Given the description of an element on the screen output the (x, y) to click on. 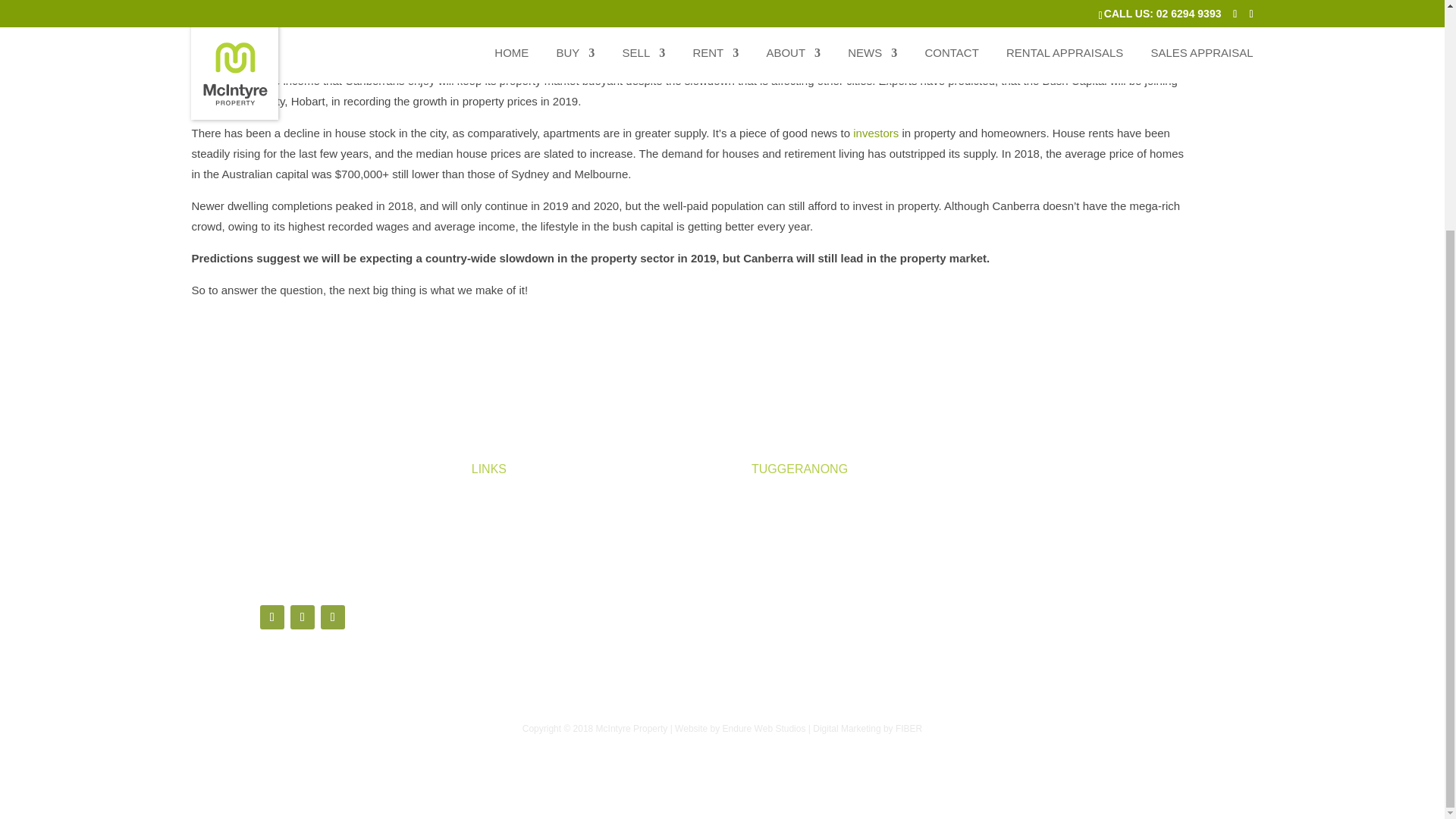
Follow on Instagram (332, 617)
investors (875, 132)
Follow on Twitter (301, 617)
Follow on Facebook (271, 617)
